Given the description of an element on the screen output the (x, y) to click on. 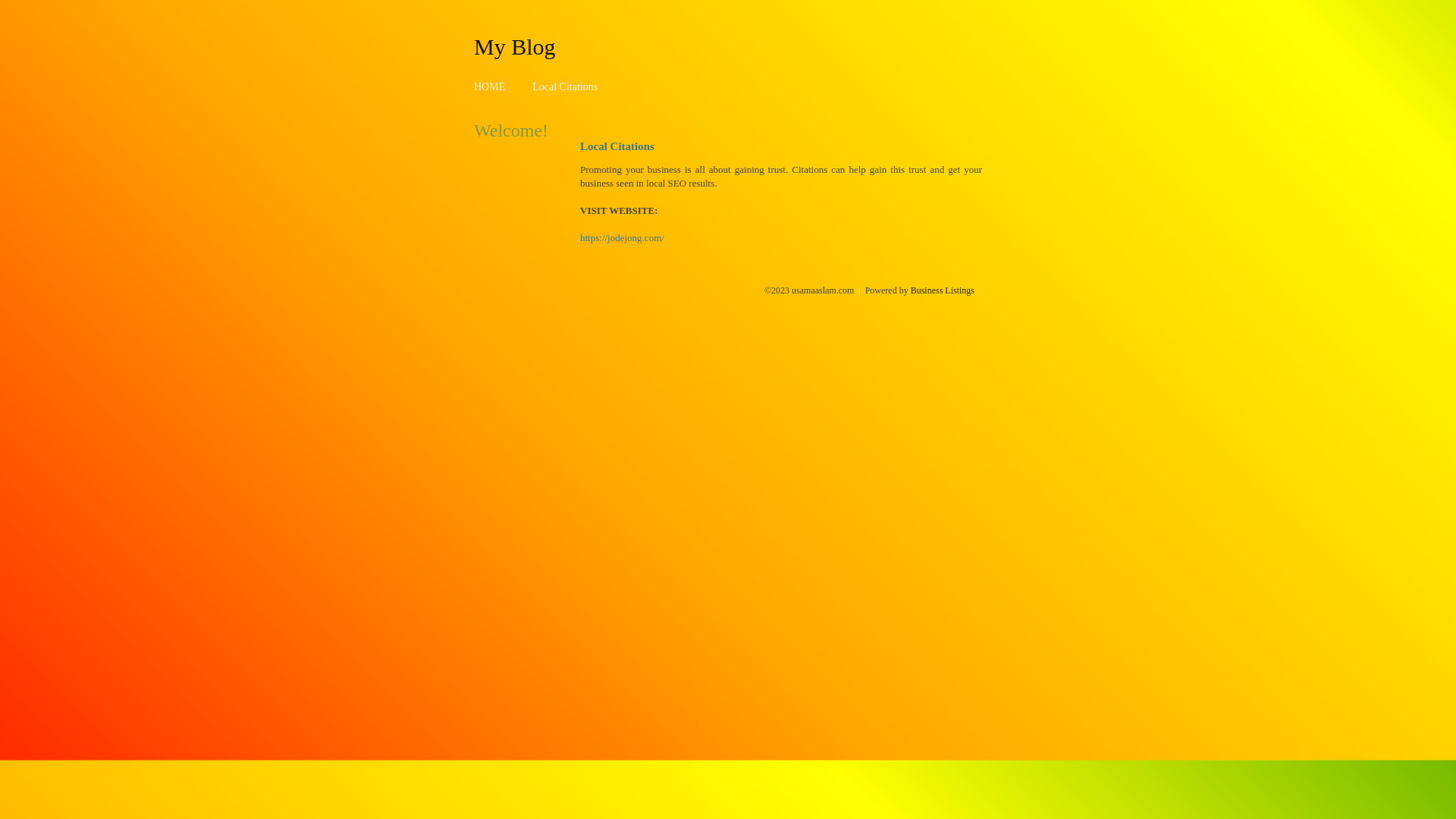
My Blog Element type: text (514, 46)
HOME Element type: text (489, 86)
Business Listings Element type: text (942, 290)
Local Citations Element type: text (564, 86)
https://jodejong.com/ Element type: text (622, 237)
